Given the description of an element on the screen output the (x, y) to click on. 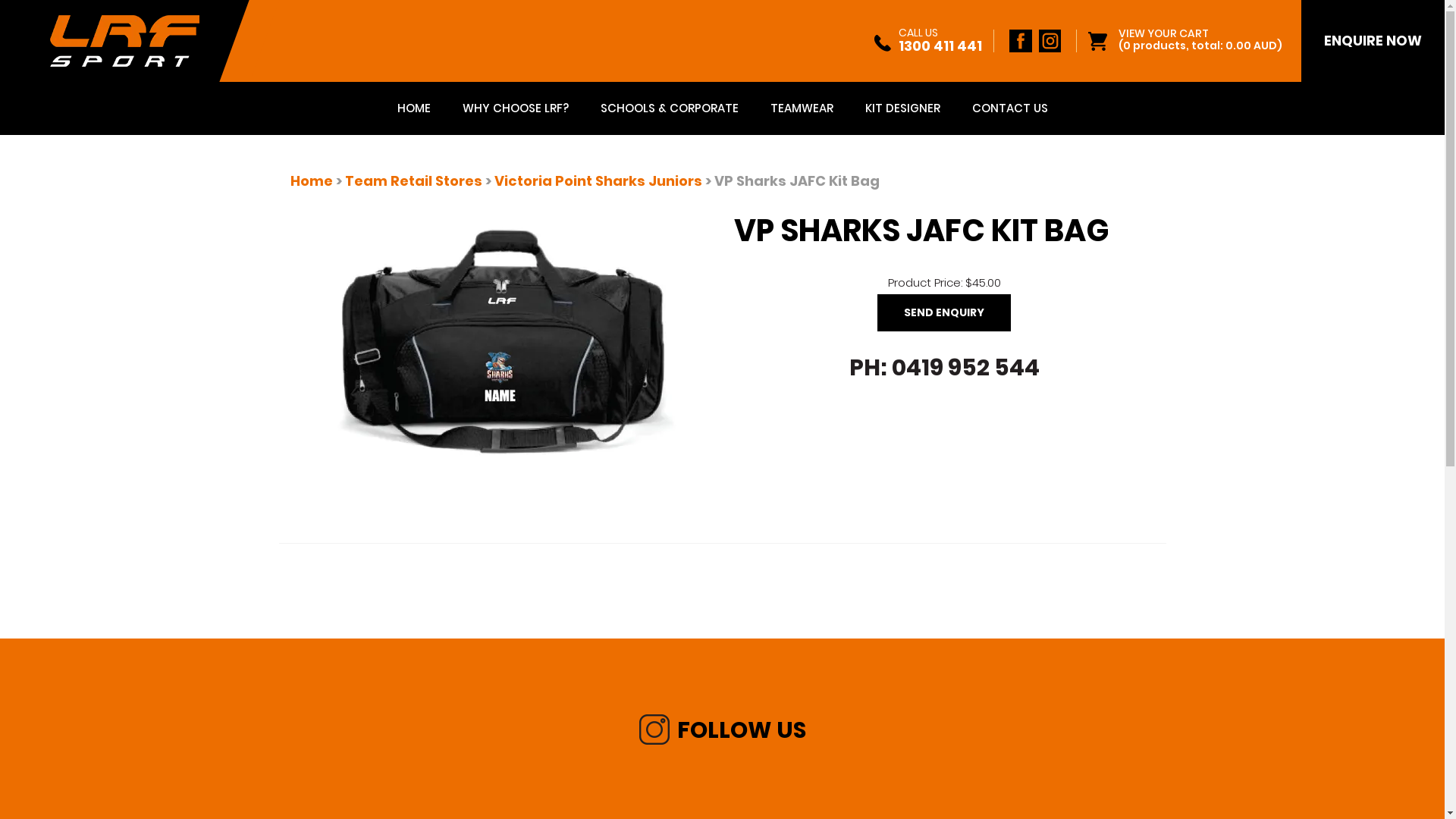
Victoria Point Sharks Juniors Element type: text (598, 180)
Send Enquiry Element type: text (943, 313)
WHY CHOOSE LRF? Element type: text (514, 107)
SCHOOLS & CORPORATE Element type: text (668, 107)
Home Element type: text (312, 180)
VP Sharks JAFC Kit Bag Element type: hover (500, 339)
facebook Element type: text (1020, 40)
KIT DESIGNER Element type: text (902, 107)
LRF SPORTS Element type: hover (124, 39)
CONTACT US Element type: text (1009, 107)
PH: 0419 952 544 Element type: text (944, 367)
HOME Element type: text (412, 107)
instagram Element type: text (1049, 40)
ENQUIRE NOW Element type: text (1372, 40)
CALL US
1300 411 441 Element type: text (928, 40)
VIEW YOUR CART
(0 products, total: 0.00 AUD) Element type: text (1200, 39)
Team Retail Stores Element type: text (412, 180)
TEAMWEAR Element type: text (800, 107)
